Given the description of an element on the screen output the (x, y) to click on. 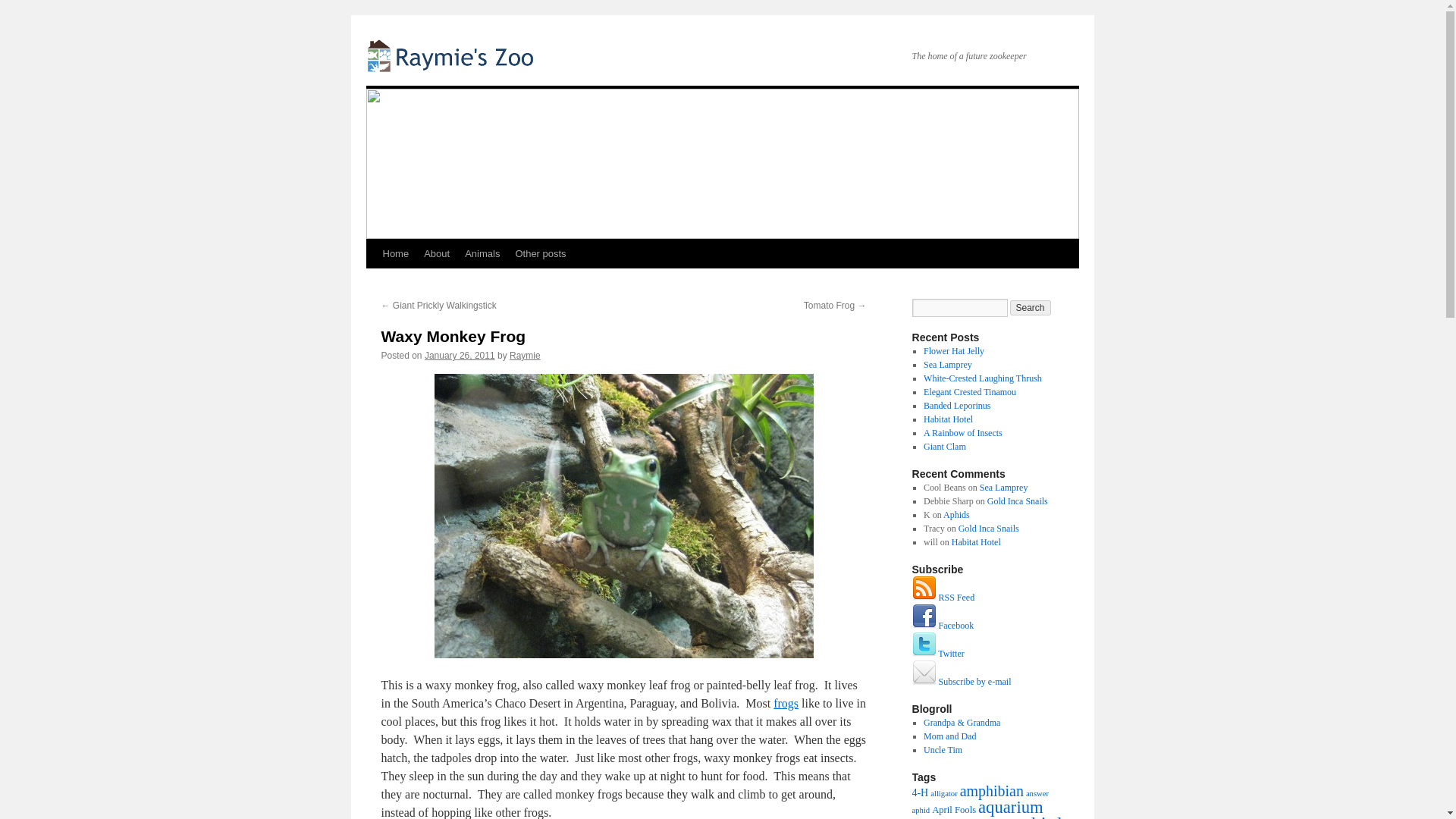
Other posts (539, 253)
Home (395, 253)
Raymie (524, 355)
Waxy Monkey Frog (622, 515)
January 26, 2011 (460, 355)
The Ben and Leanna Webspace (949, 736)
3:00 pm (460, 355)
View all posts by Raymie (524, 355)
Raymie's Zoo (452, 54)
Howie and Myra (961, 722)
